Given the description of an element on the screen output the (x, y) to click on. 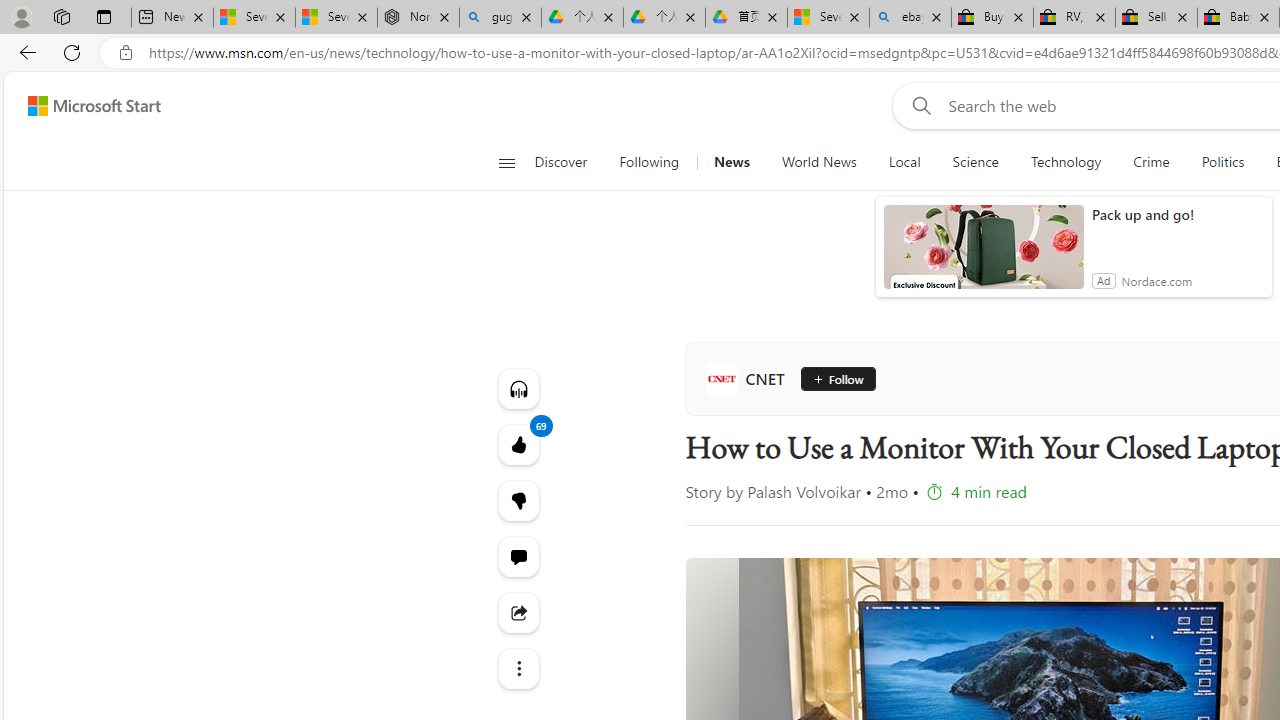
Science (975, 162)
Science (975, 162)
Web search (917, 105)
Technology (1065, 162)
Class: button-glyph (505, 162)
Follow (831, 378)
Politics (1222, 162)
